Given the description of an element on the screen output the (x, y) to click on. 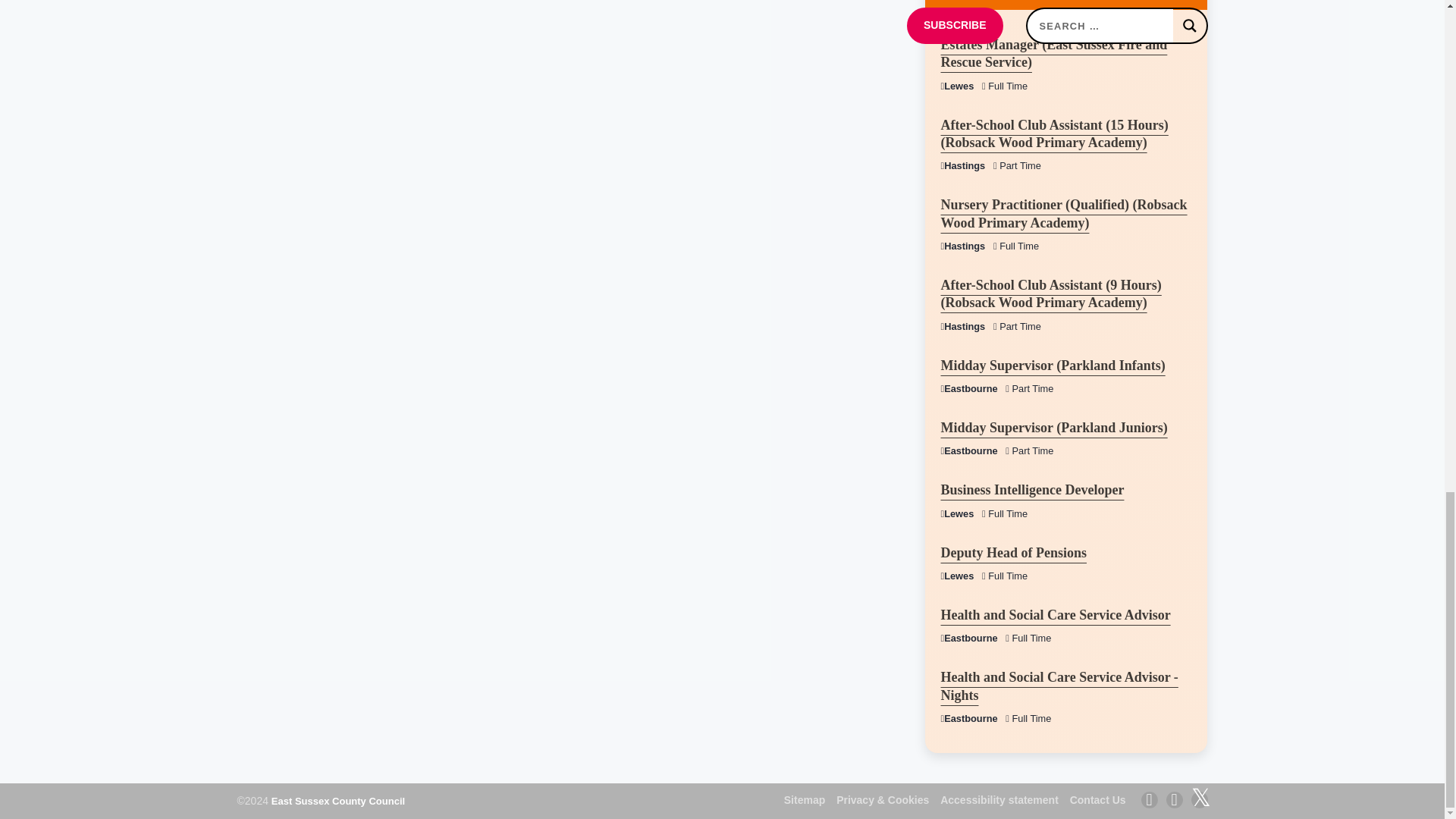
Deputy Head of Pensions (1013, 552)
Health and Social Care Service Advisor - Nights (1058, 685)
East Sussex County Council (337, 800)
Health and Social Care Service Advisor (1055, 614)
Business Intelligence Developer (1032, 489)
